Given the description of an element on the screen output the (x, y) to click on. 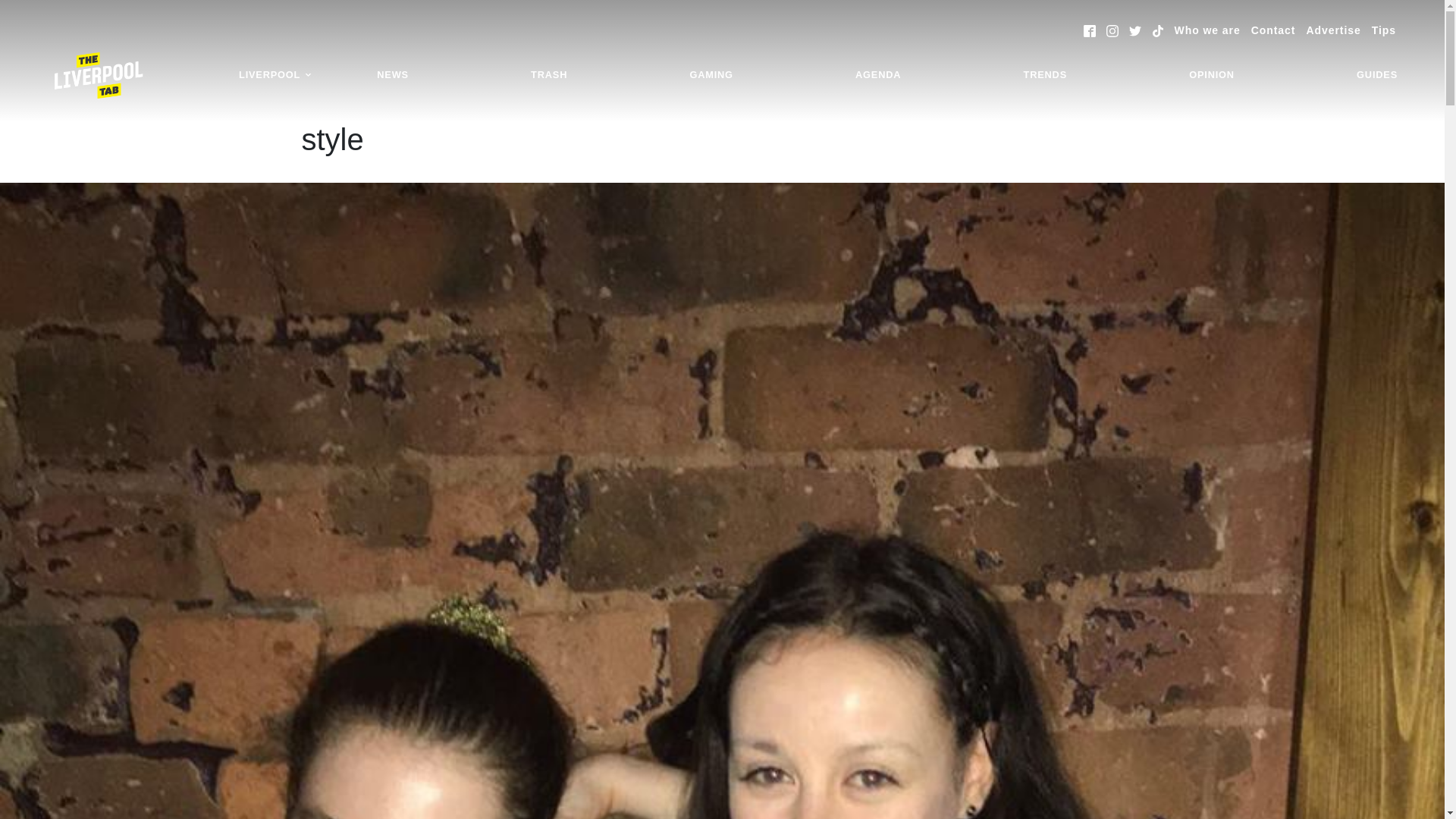
TRENDS (1044, 75)
Contact (1272, 29)
LIVERPOOL (275, 75)
GAMING (711, 75)
OPINION (1211, 75)
GUIDES (1377, 75)
TRASH (548, 75)
Who we are (1207, 29)
AGENDA (878, 75)
Tips (1383, 29)
NEWS (392, 75)
Advertise (1332, 29)
